Given the description of an element on the screen output the (x, y) to click on. 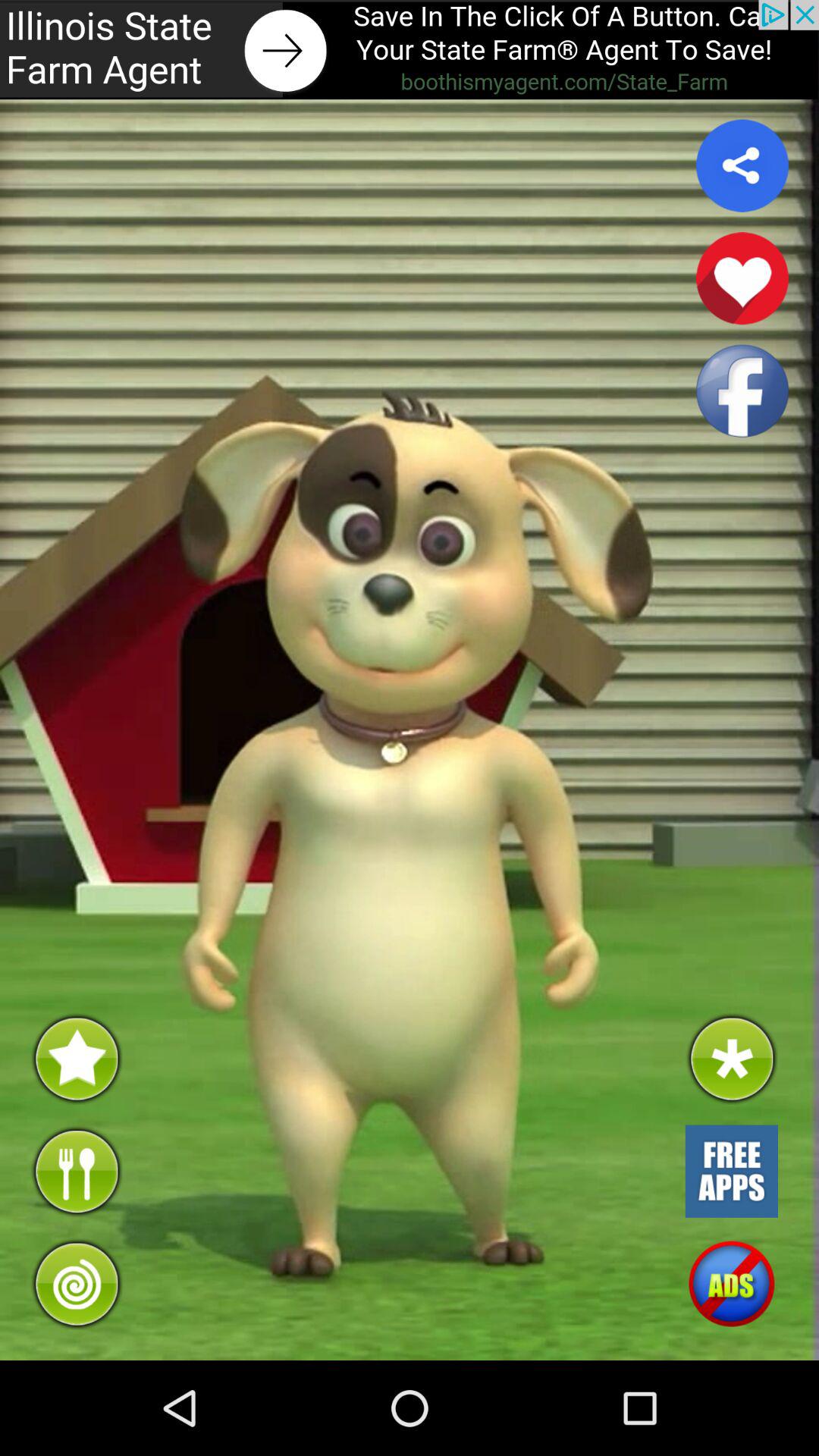
advertising (731, 1170)
